Given the description of an element on the screen output the (x, y) to click on. 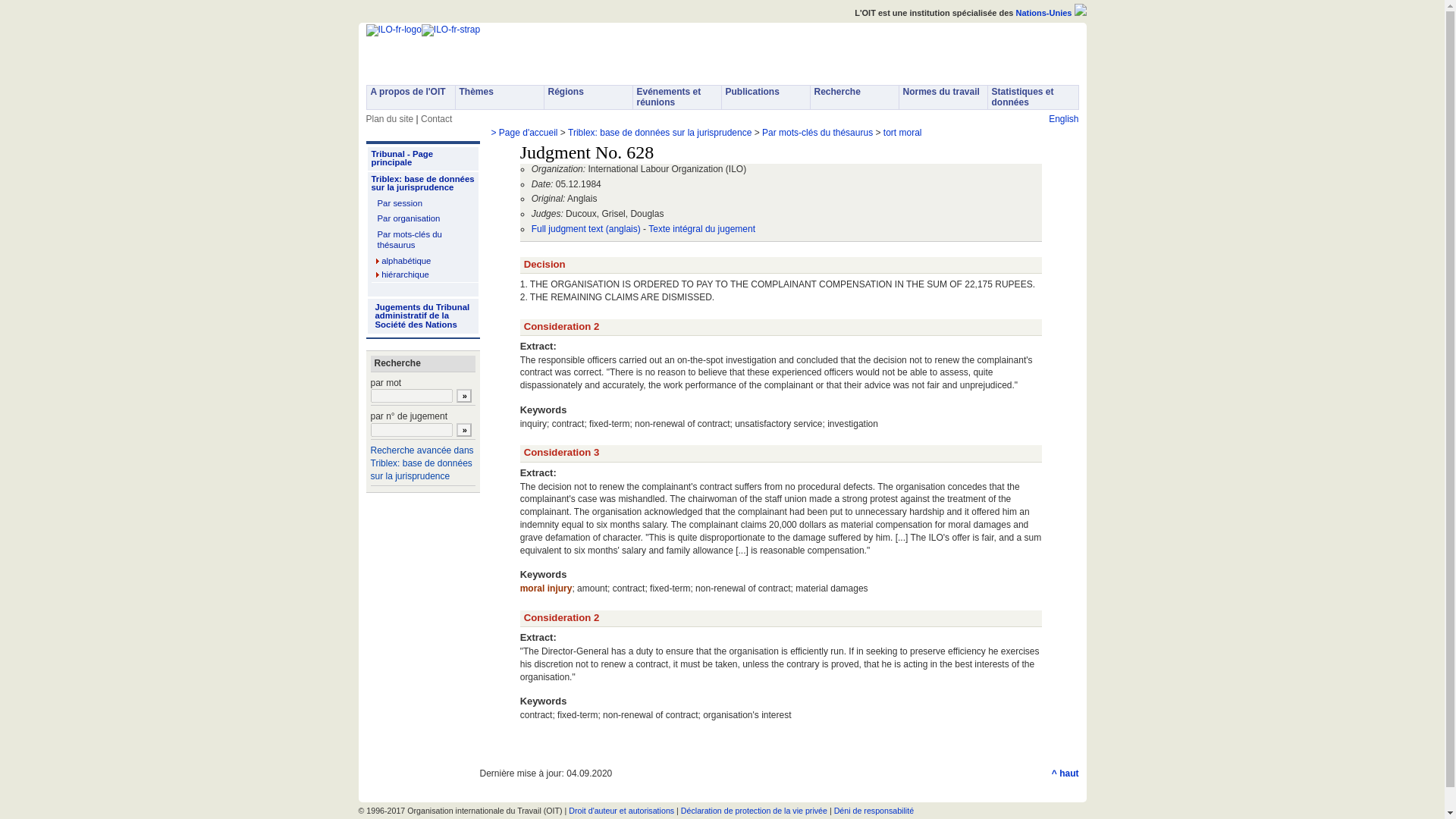
Par organisation (421, 219)
Contact (435, 118)
Droit d'auteur et autorisations (621, 809)
English (1063, 118)
tort moral (902, 132)
A propos de l'OIT (410, 96)
Nations-Unies (1042, 12)
Recherche (853, 96)
Publications (765, 96)
Normes du travail (943, 96)
